Given the description of an element on the screen output the (x, y) to click on. 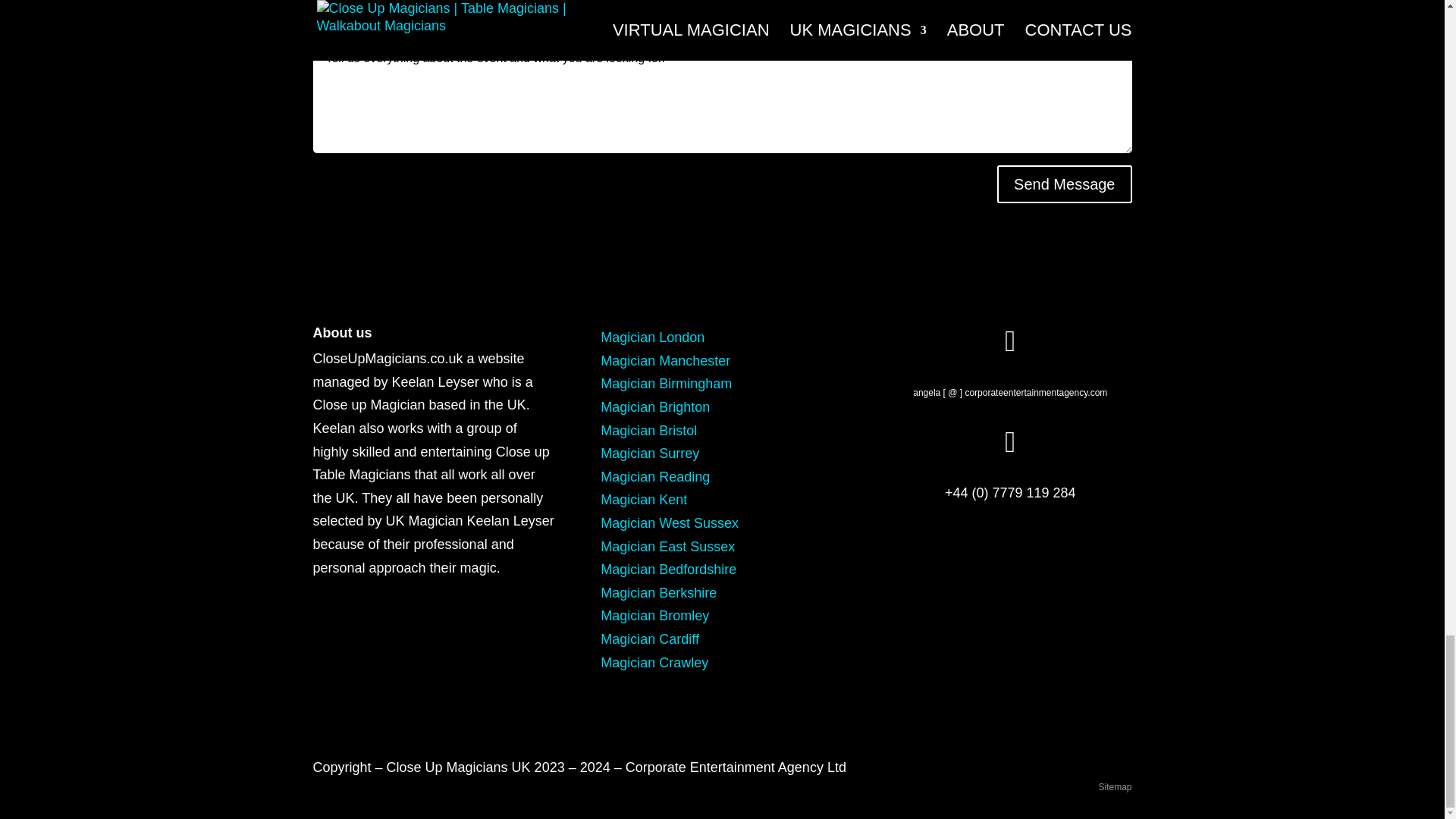
Magician London (651, 337)
Send Message (1064, 184)
Magician Birmingham (665, 383)
Magician West Sussex (668, 522)
Magician Bristol (648, 430)
Magician Brighton (654, 406)
Magician Crawley (653, 662)
Magician Manchester (664, 360)
Magician Reading (654, 476)
Magician Kent (643, 499)
